Given the description of an element on the screen output the (x, y) to click on. 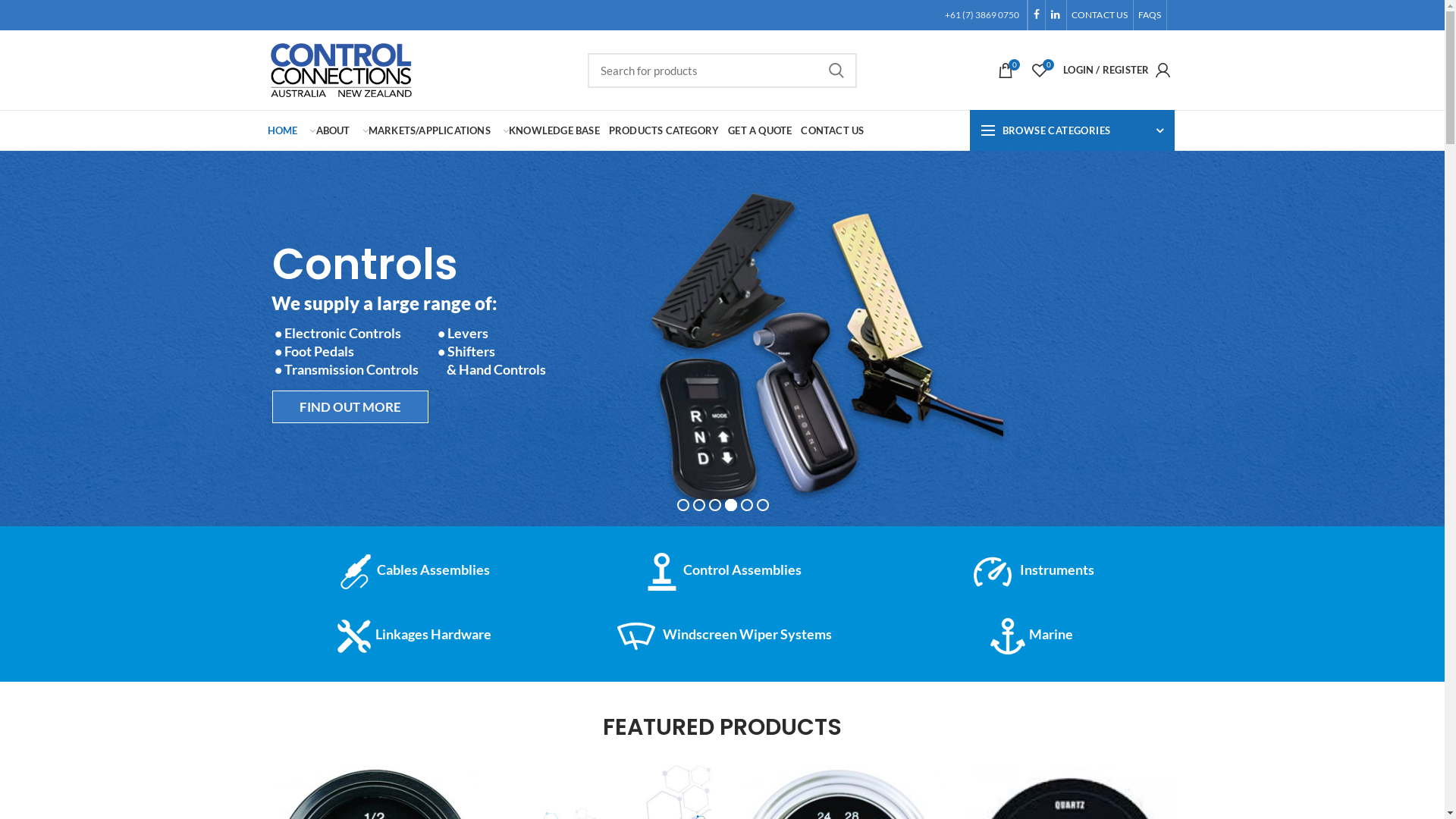
0 Element type: text (1039, 69)
CONTACT US Element type: text (1099, 15)
FIND OUT MORE Element type: text (350, 406)
Instruments Element type: text (1030, 570)
SEARCH Element type: text (836, 70)
Linkages Hardware Element type: text (413, 634)
Cables Assemblies Element type: text (412, 570)
KNOWLEDGE BASE Element type: text (549, 130)
ABOUT Element type: text (327, 130)
Control Assemblies Element type: text (722, 570)
Windscreen Wiper Systems Element type: text (721, 634)
PRODUCTS CATEGORY Element type: text (663, 130)
Marine Element type: text (1030, 634)
0 Element type: text (1005, 69)
+61 (7) 3869 0750 Element type: text (981, 14)
GET A QUOTE Element type: text (759, 130)
CONTACT US Element type: text (832, 130)
HOME Element type: text (281, 130)
FAQS Element type: text (1149, 15)
MARKETS/APPLICATIONS Element type: text (424, 130)
LOGIN / REGISTER Element type: text (1119, 69)
